Given the description of an element on the screen output the (x, y) to click on. 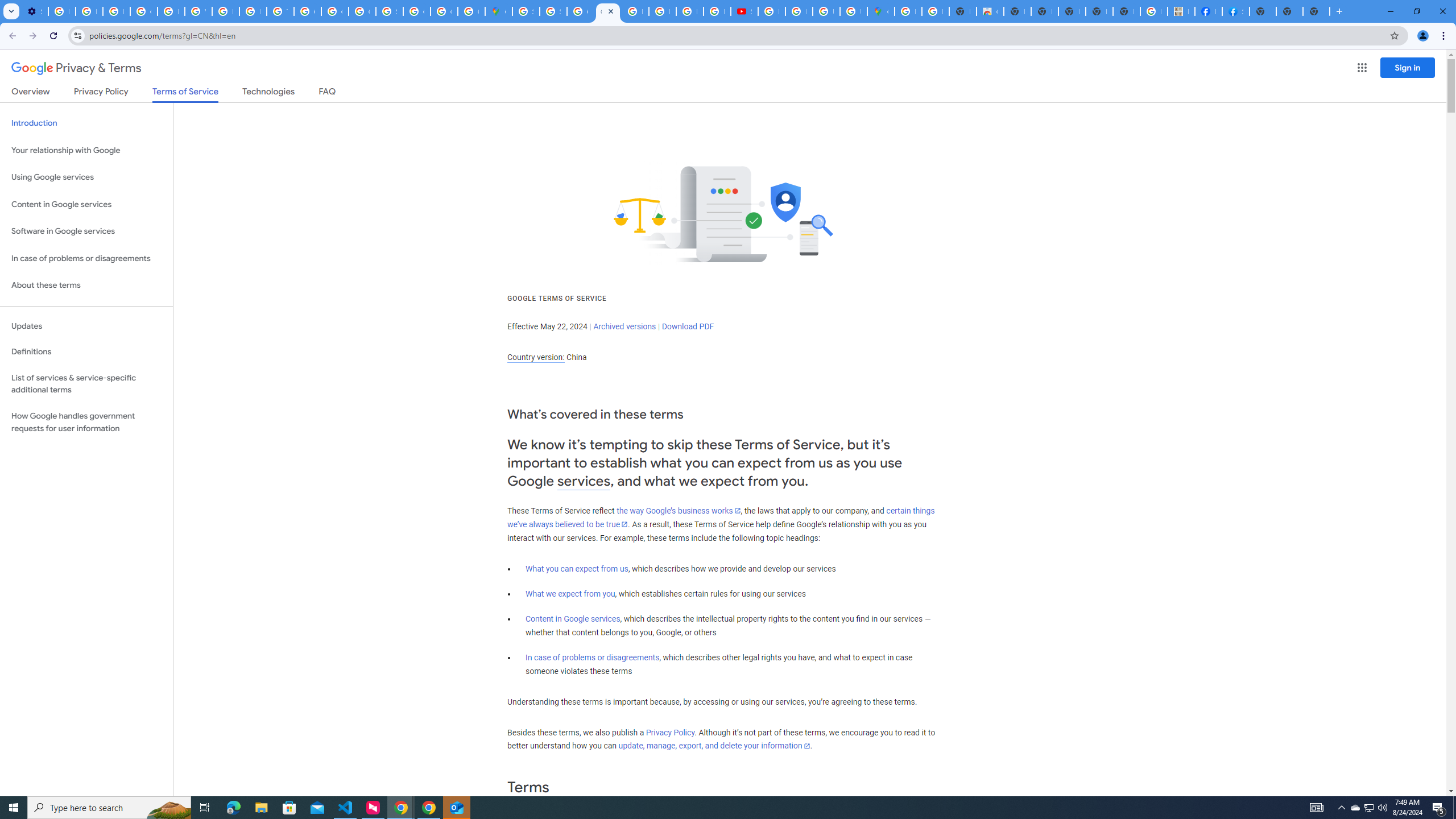
update, manage, export, and delete your information (714, 746)
Subscriptions - YouTube (743, 11)
New Tab (1316, 11)
Privacy Help Center - Policies Help (170, 11)
